Given the description of an element on the screen output the (x, y) to click on. 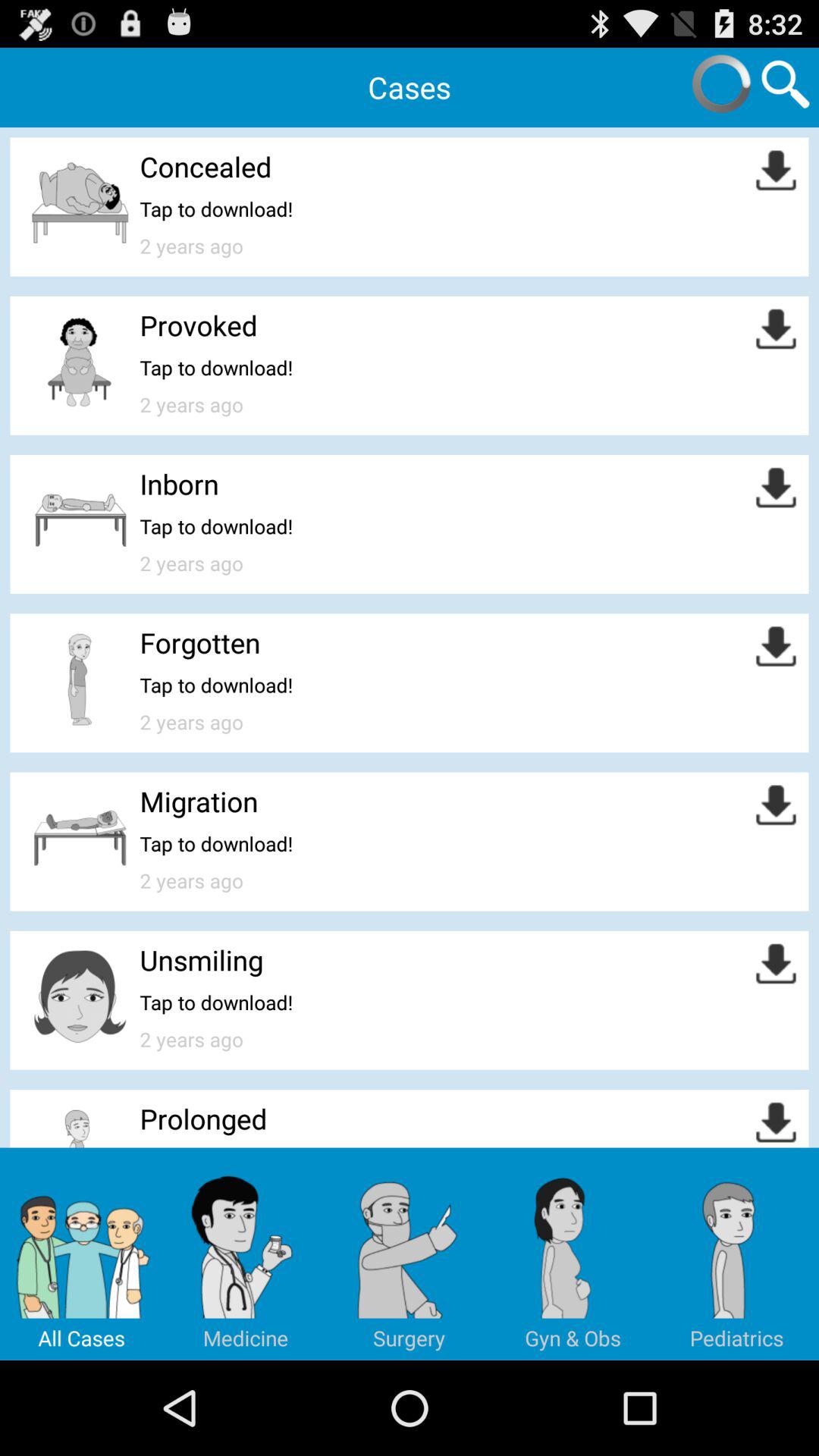
jump to prolonged (203, 1118)
